Given the description of an element on the screen output the (x, y) to click on. 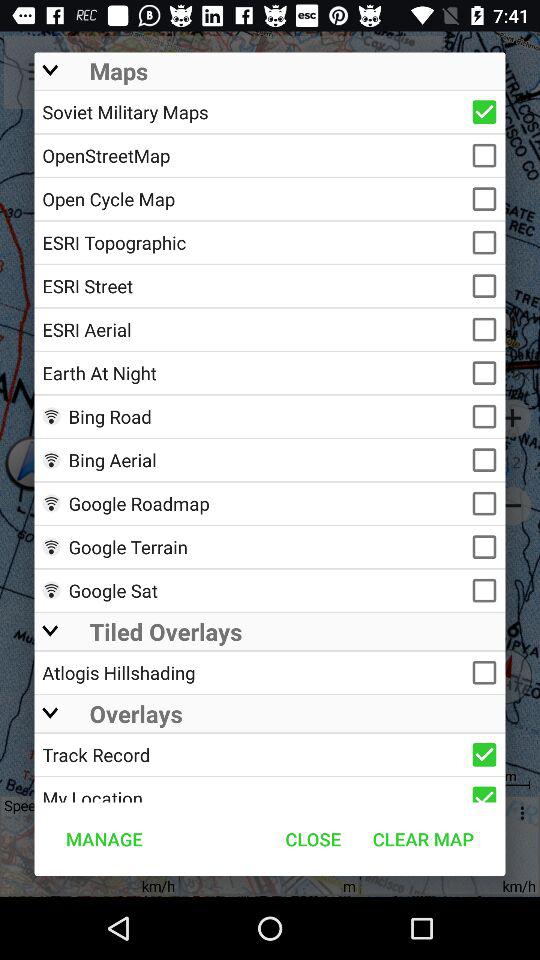
press the item below the my location (313, 838)
